Given the description of an element on the screen output the (x, y) to click on. 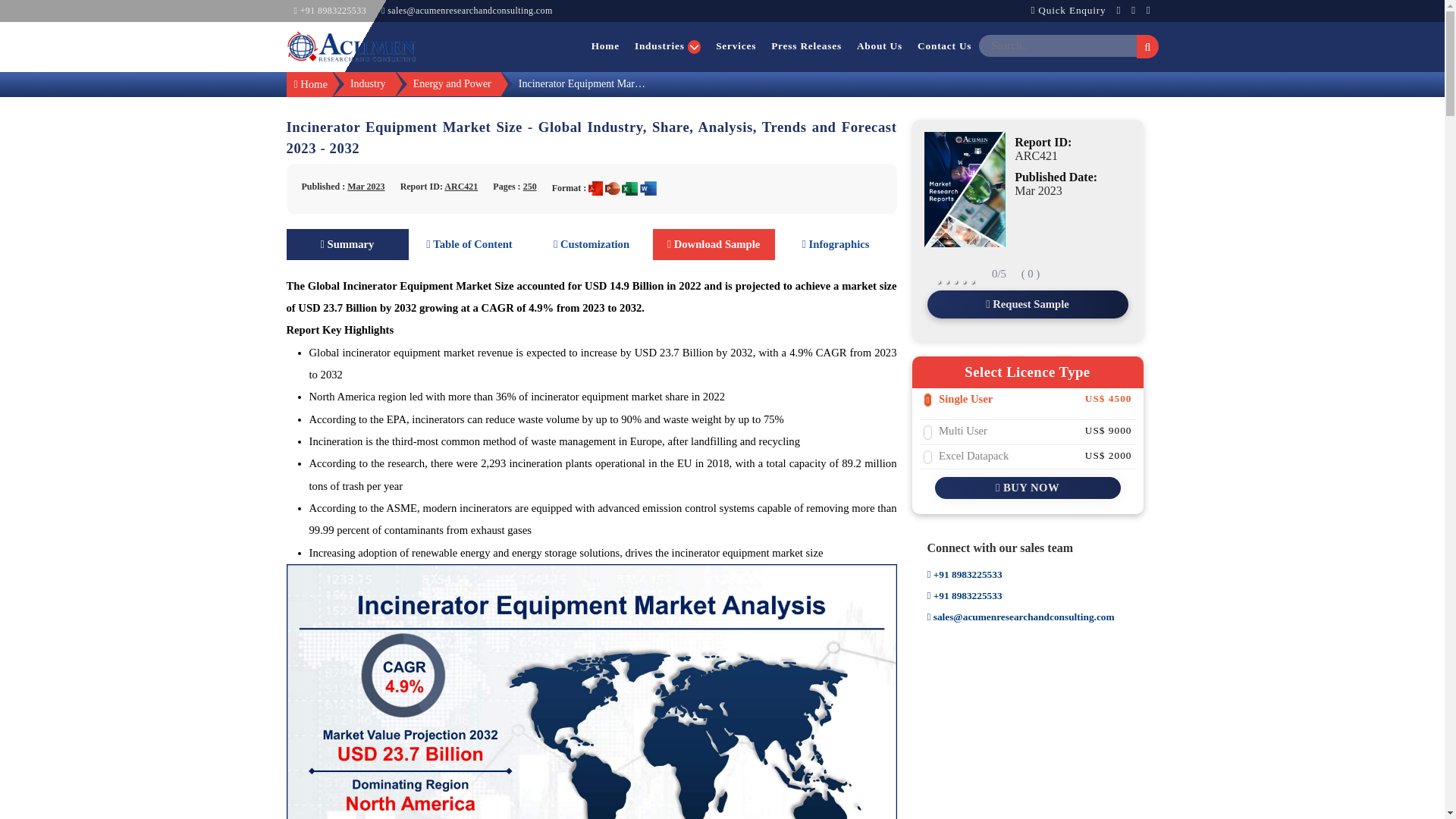
Quick Enquiry (1071, 10)
92b275ef43bd93203a3259b88cf44a23.png (351, 46)
